Given the description of an element on the screen output the (x, y) to click on. 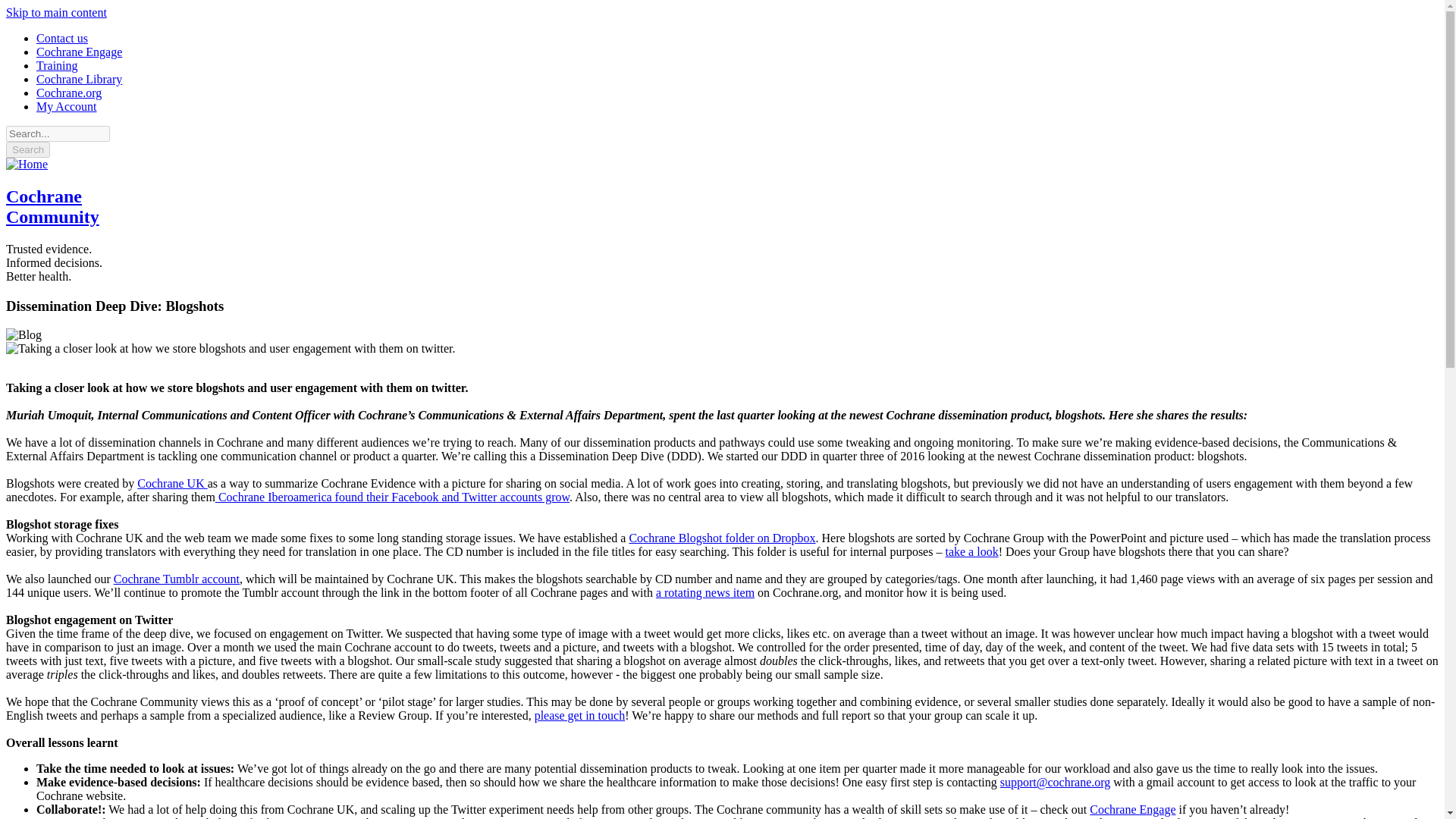
My Account (66, 106)
Contact us (61, 38)
Cochrane Engage (1131, 809)
Dissemination Deep Dive: Blogshots (230, 348)
a rotating news item (705, 592)
Skip to main content (55, 11)
Cochrane Blogshot folder on Dropbox (721, 537)
Cochrane UK (171, 482)
Cochrane Library (79, 78)
Training (57, 65)
Search (27, 149)
Home (26, 164)
Blog post (392, 496)
Cochrane Tumblr account (176, 578)
take a look (970, 551)
